Given the description of an element on the screen output the (x, y) to click on. 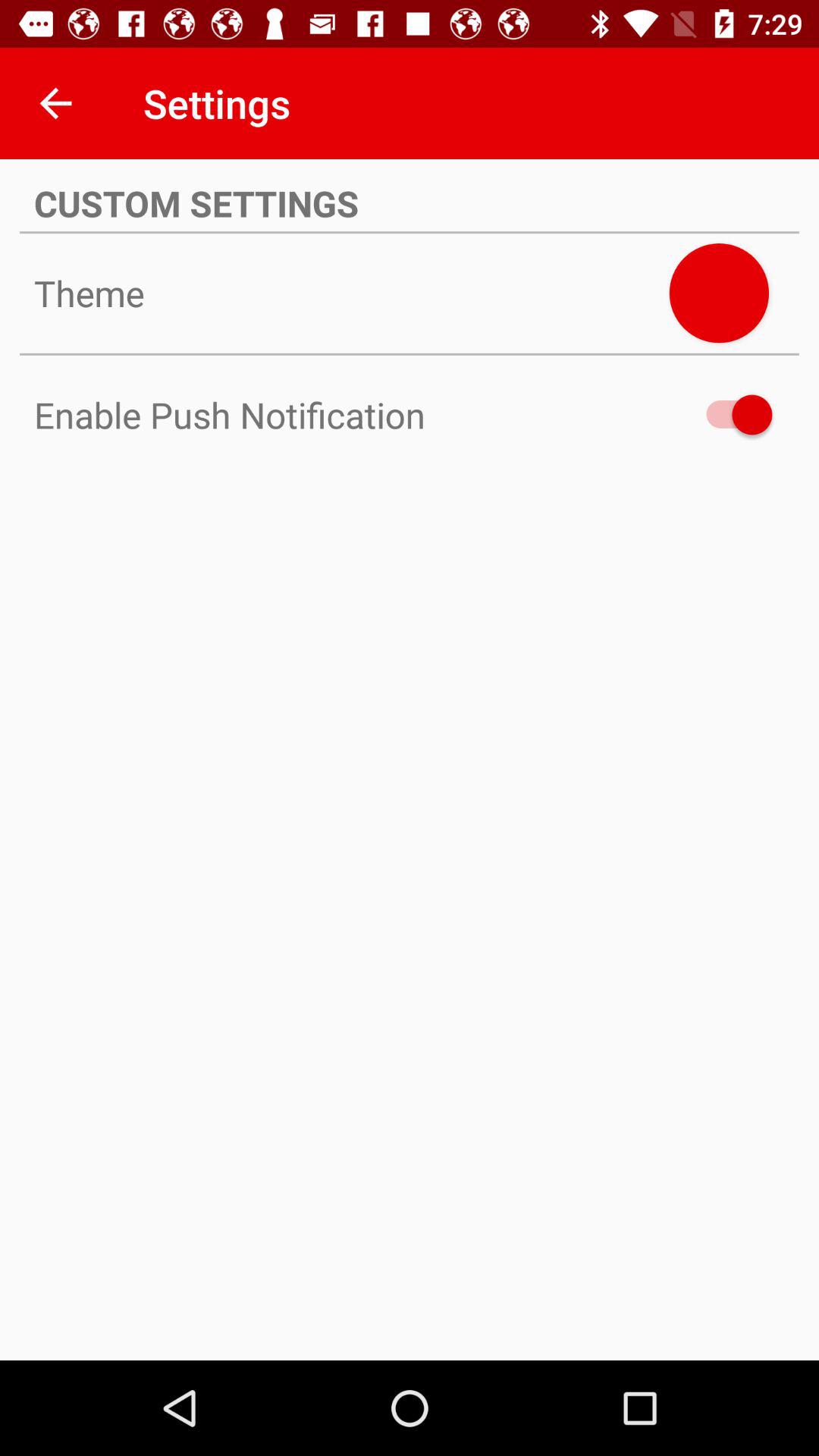
toggle enable push notifications (731, 414)
